Given the description of an element on the screen output the (x, y) to click on. 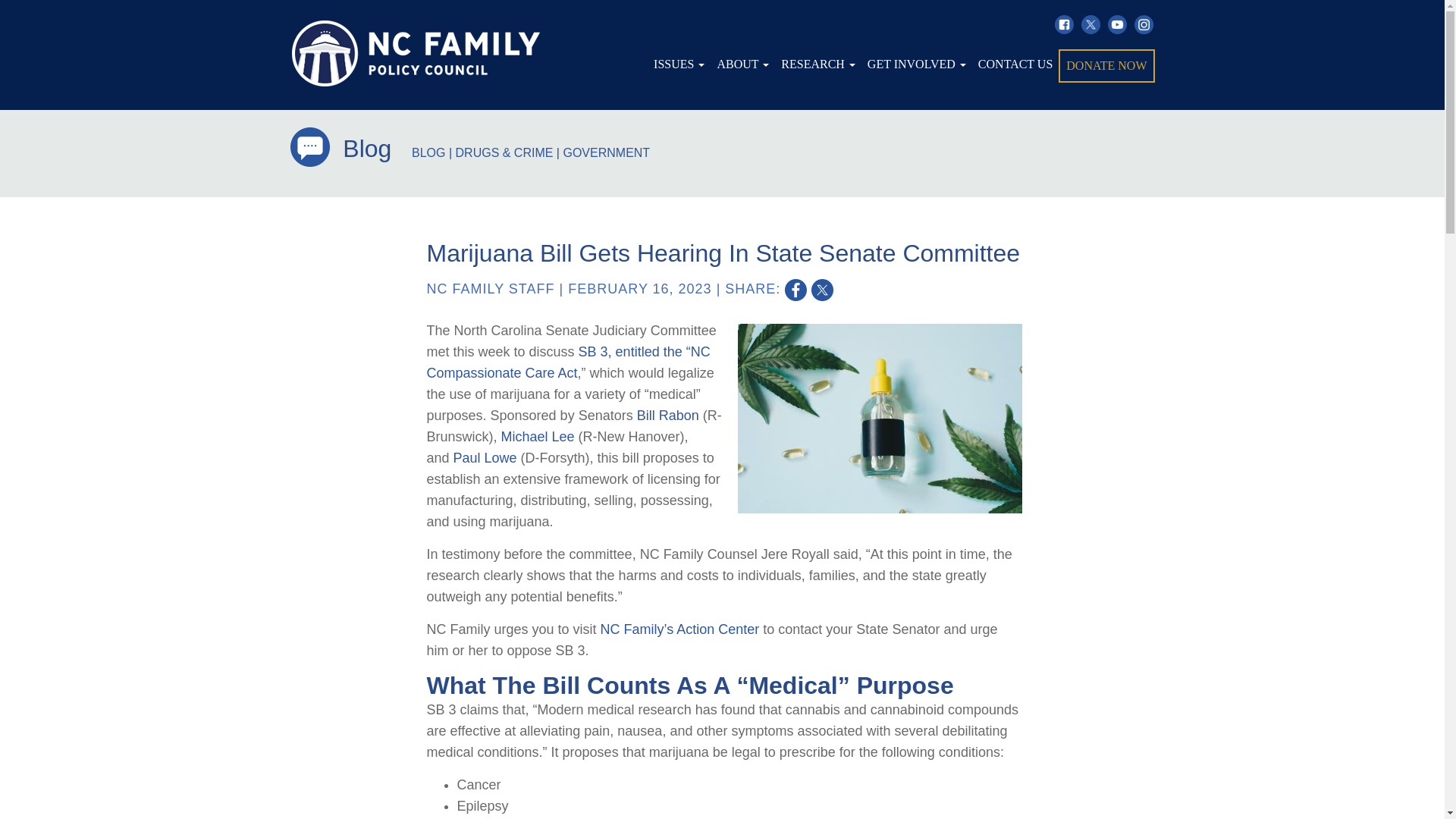
ISSUES (678, 64)
Youtube (1115, 24)
GET INVOLVED (916, 64)
Youtube (1115, 24)
BLOG (428, 152)
GOVERNMENT (605, 152)
Twitter (1090, 24)
Issues (678, 64)
ABOUT (742, 64)
CONTACT US (1015, 64)
